Given the description of an element on the screen output the (x, y) to click on. 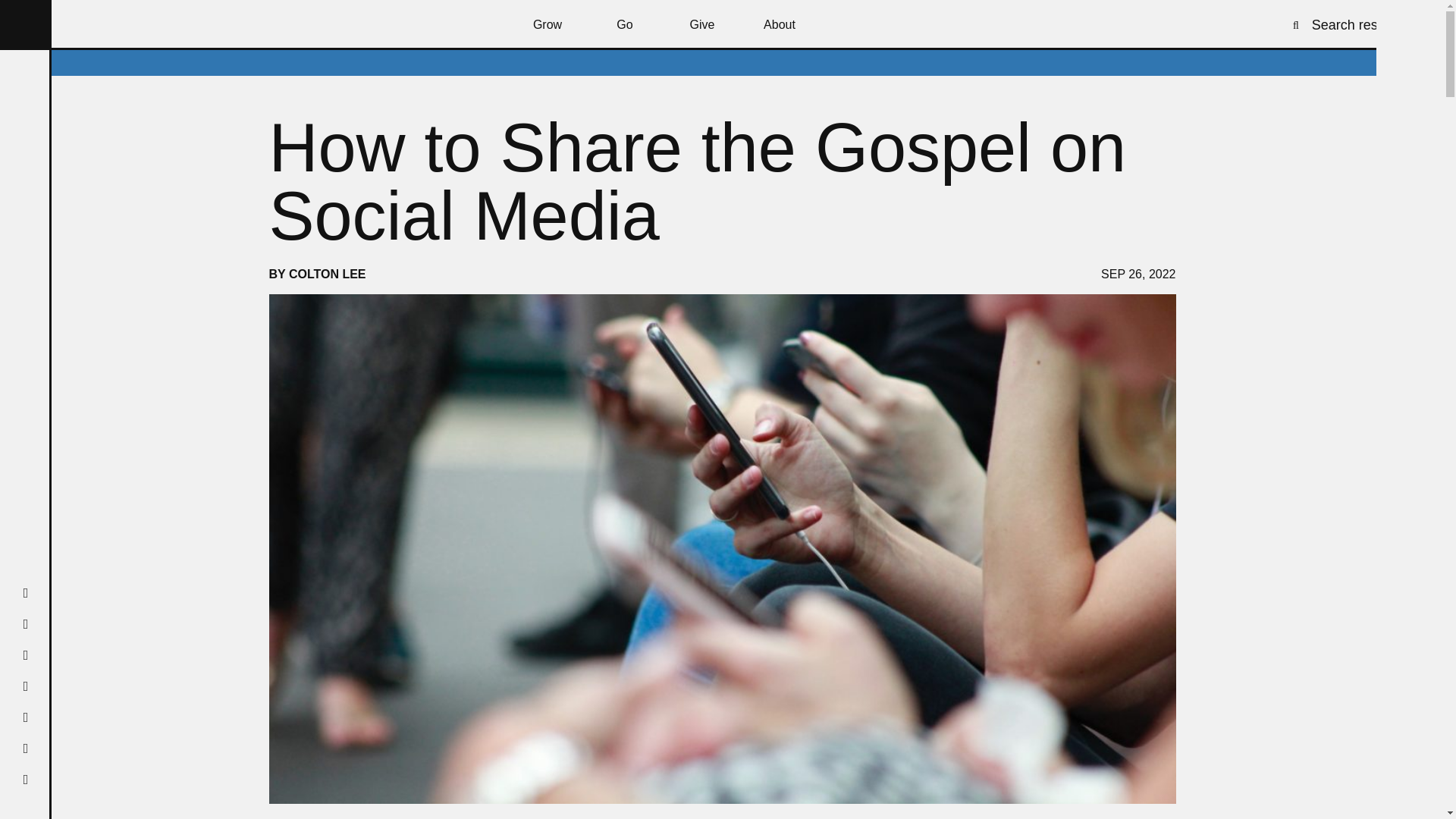
Give (702, 24)
Grow (547, 24)
About (779, 24)
Go (624, 24)
